Given the description of an element on the screen output the (x, y) to click on. 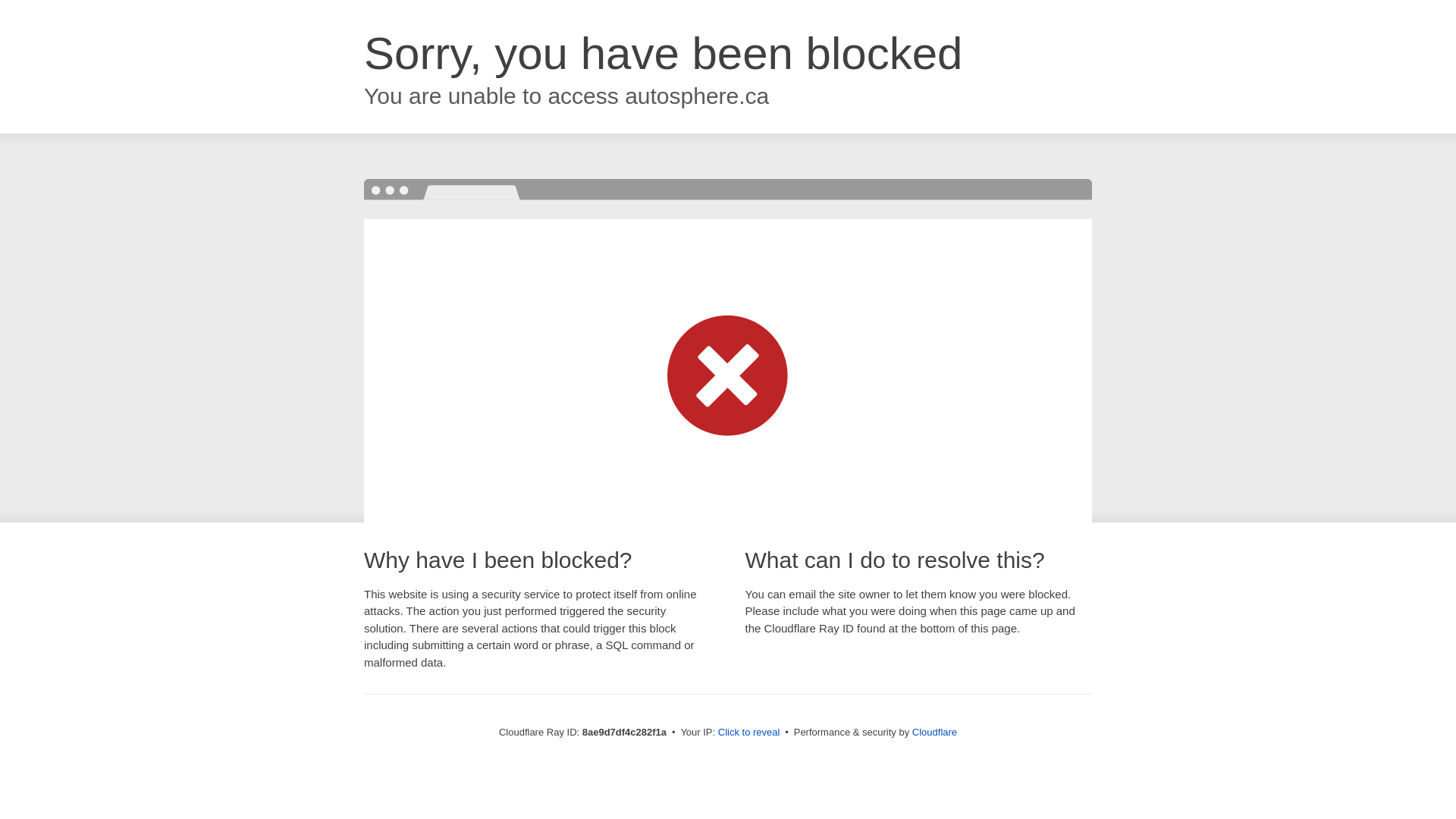
Click to reveal (748, 732)
Cloudflare (934, 731)
